Given the description of an element on the screen output the (x, y) to click on. 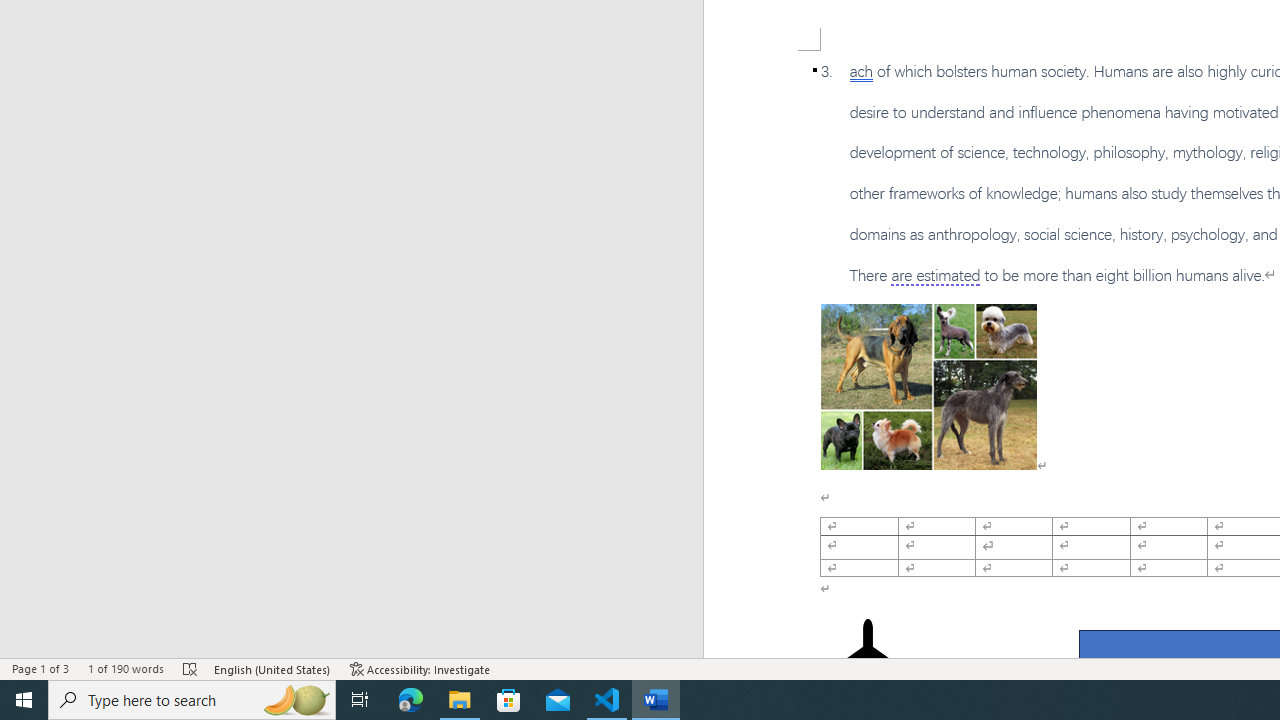
Microsoft Edge (411, 699)
